Given the description of an element on the screen output the (x, y) to click on. 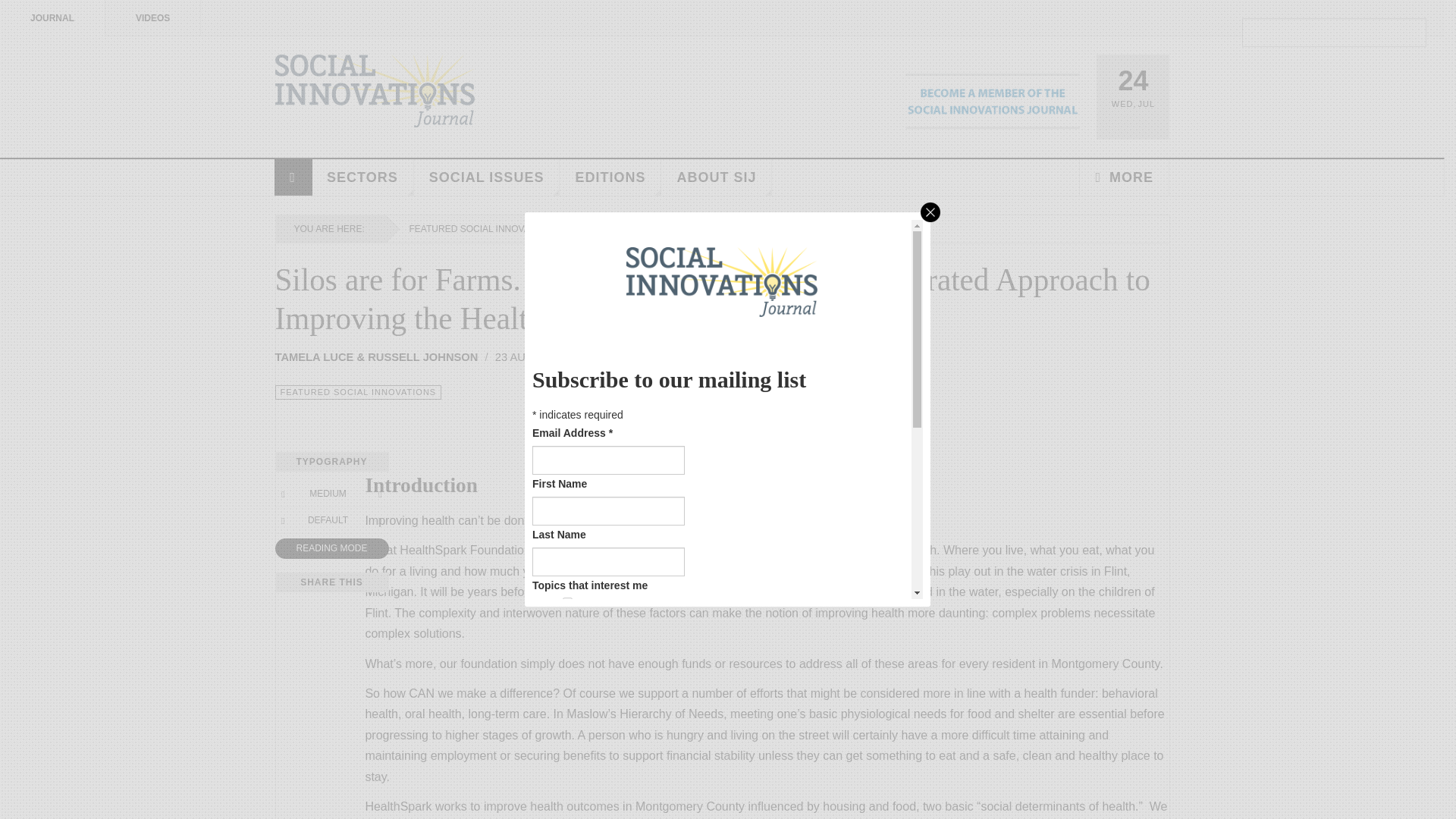
64 (567, 734)
2 (567, 624)
8 (567, 668)
256 (567, 777)
1 (567, 602)
16 (567, 690)
512 (567, 800)
Social Innovation Journal (374, 90)
128 (567, 756)
4 (567, 646)
32 (567, 712)
